Given the description of an element on the screen output the (x, y) to click on. 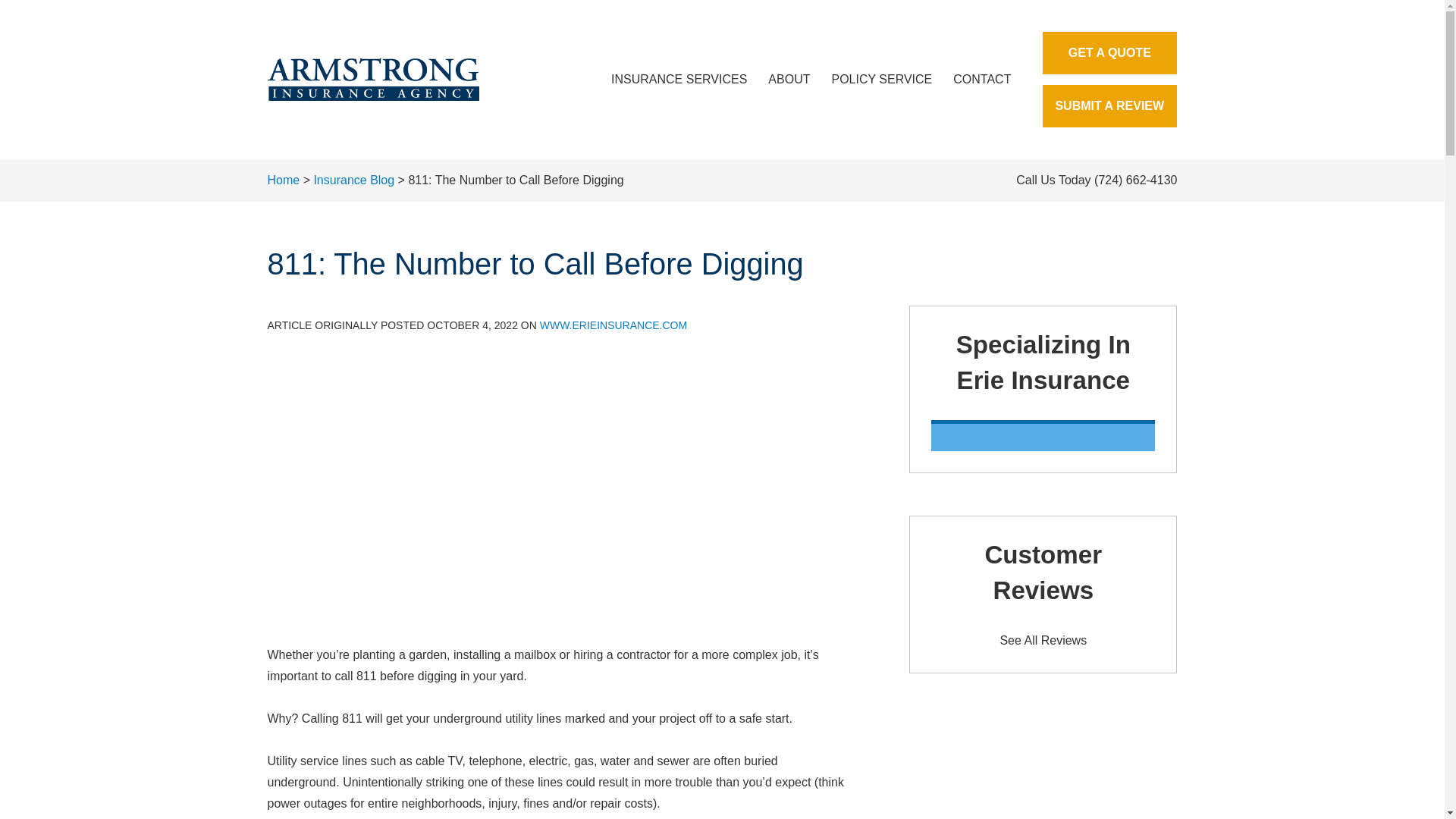
INSURANCE SERVICES (678, 79)
POLICY SERVICE (881, 79)
ABOUT (789, 79)
Armstrong Insurance Agency, Mercer (372, 79)
